Given the description of an element on the screen output the (x, y) to click on. 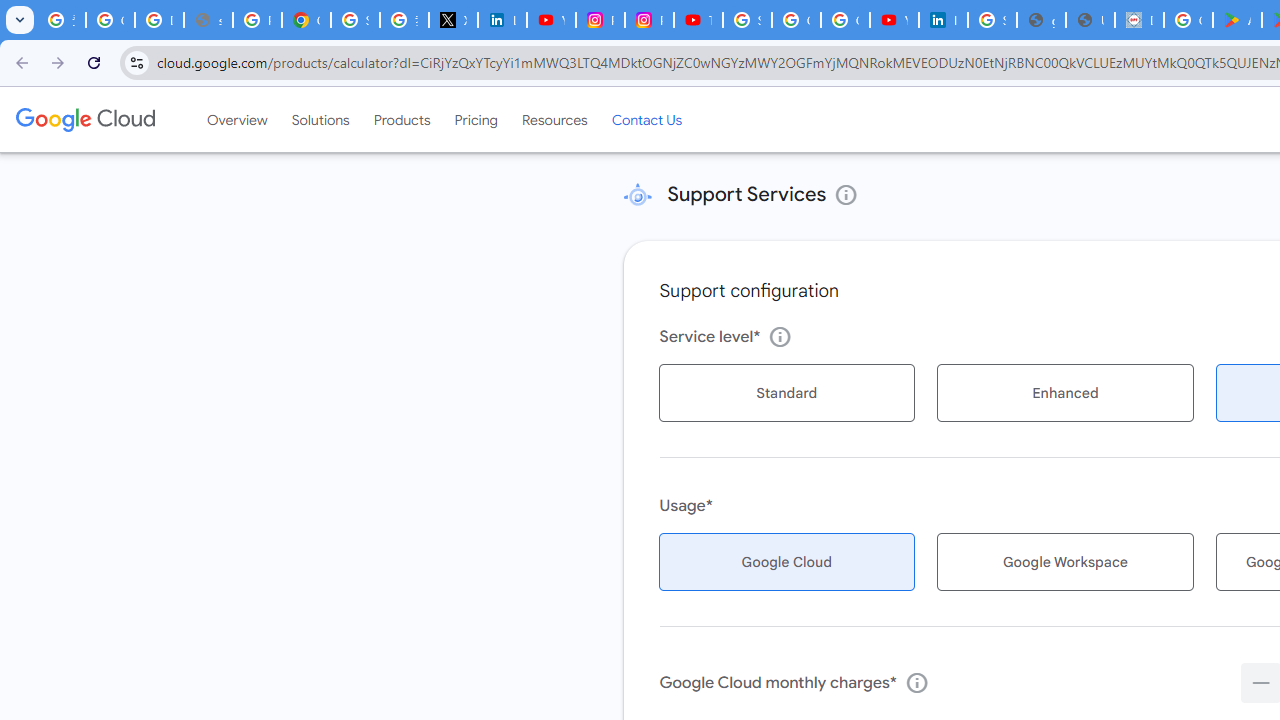
support.google.com - Network error (208, 20)
Resources (553, 119)
Google Cloud (84, 119)
Support Services (637, 194)
X (452, 20)
